Given the description of an element on the screen output the (x, y) to click on. 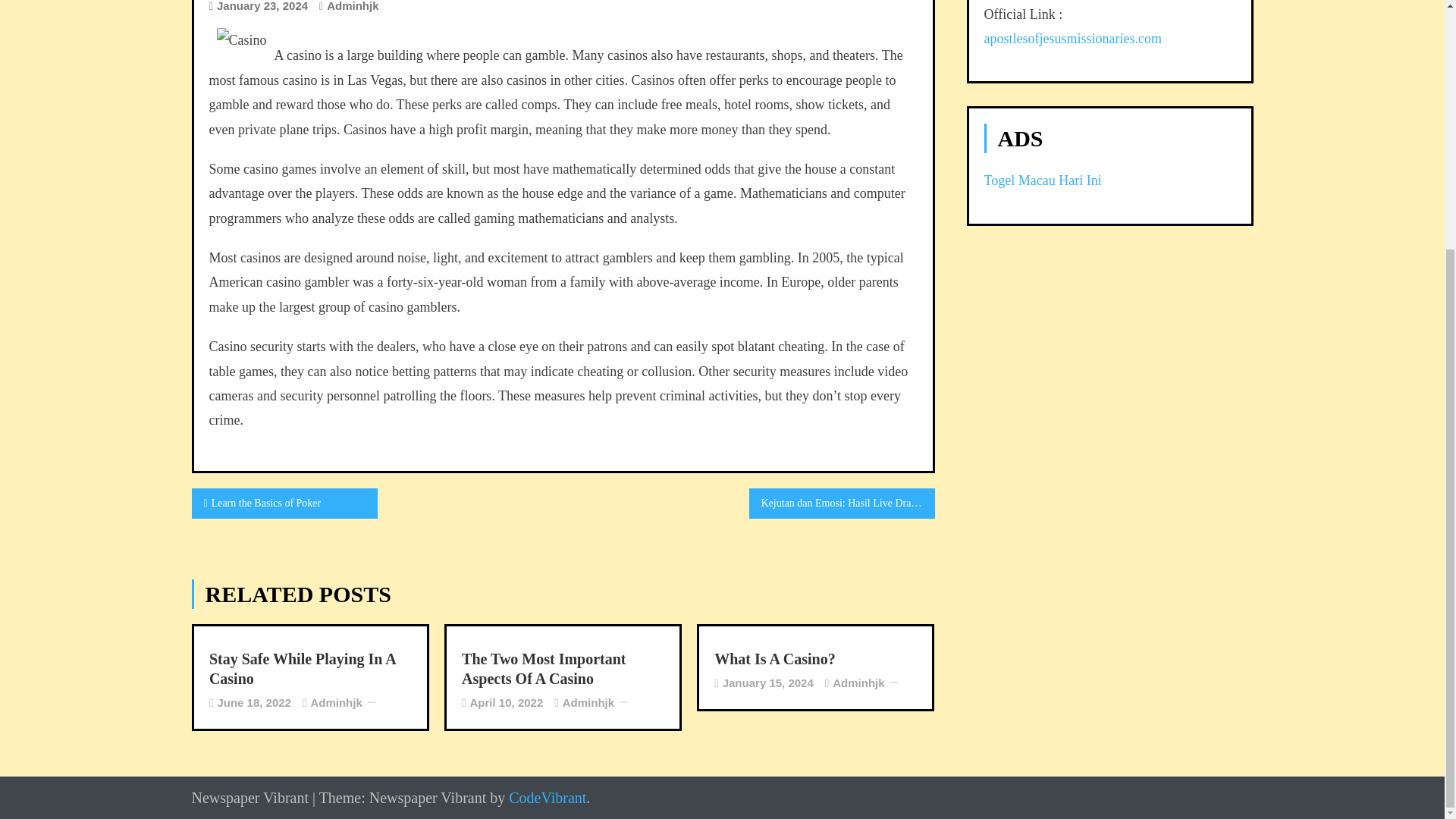
January 23, 2024 (261, 6)
What Is A Casino? (815, 659)
apostlesofjesusmissionaries.com (1072, 38)
Adminhjk (335, 702)
April 10, 2022 (506, 702)
CodeVibrant (547, 797)
Adminhjk (352, 6)
Togel Macau Hari Ini (1043, 180)
Adminhjk (588, 702)
